Given the description of an element on the screen output the (x, y) to click on. 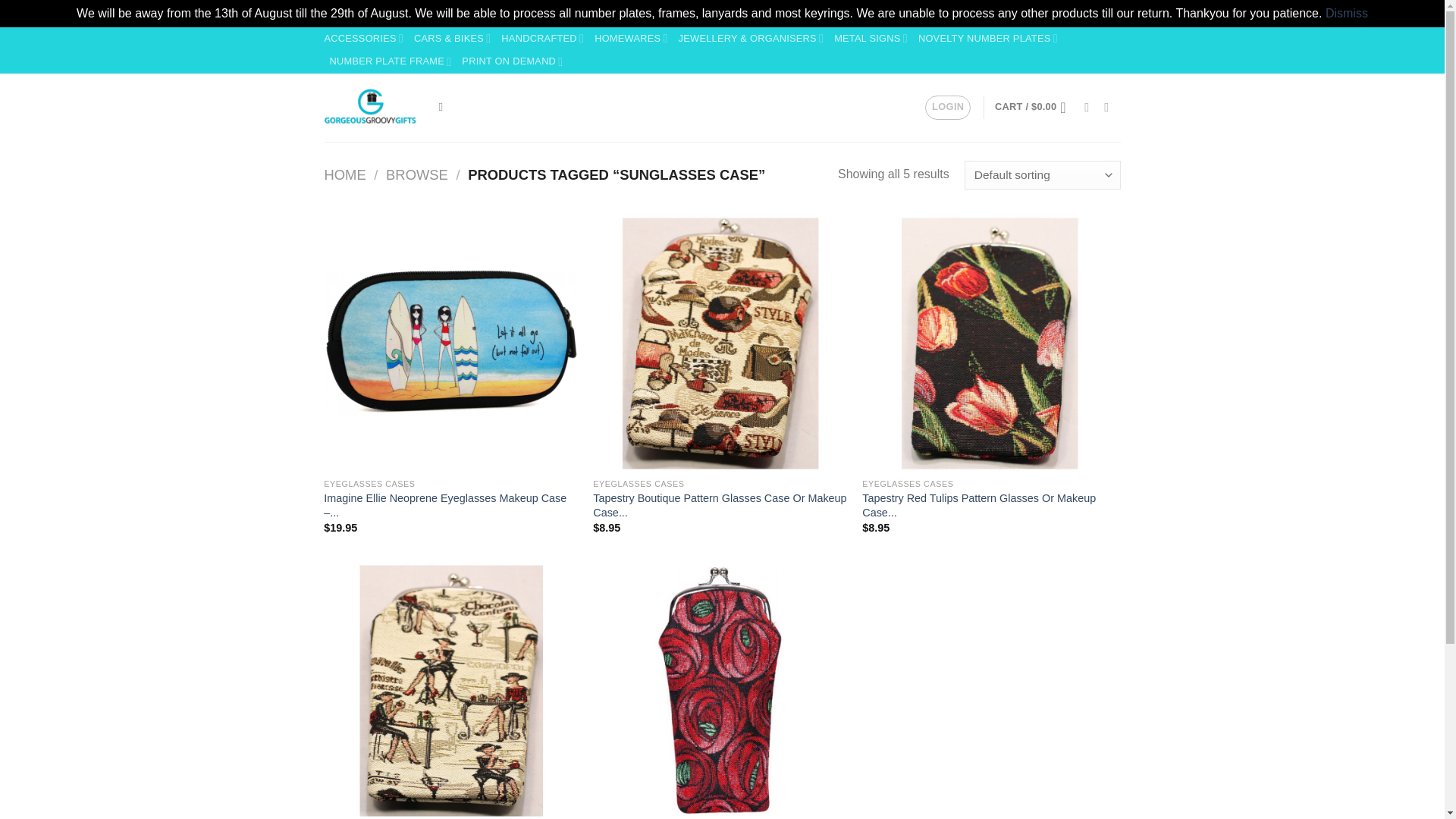
Dismiss (1346, 12)
ACCESSORIES (364, 38)
Follow on Facebook (1090, 106)
Login (947, 107)
Cart (1034, 107)
Follow on Pinterest (1109, 106)
